Given the description of an element on the screen output the (x, y) to click on. 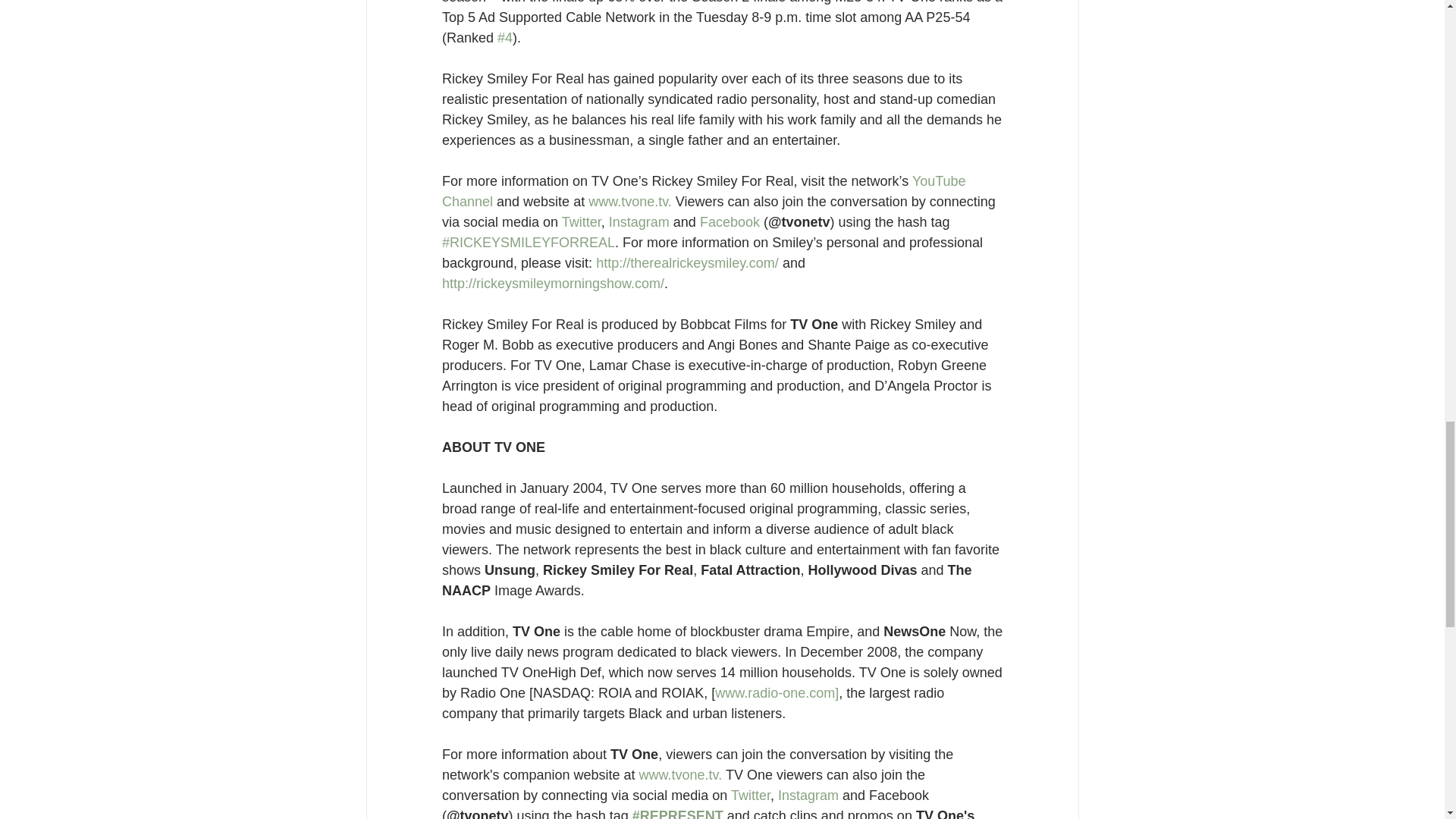
Facebook (728, 222)
Instagram  (640, 222)
Instagram  (809, 795)
Twitter (579, 222)
www.tvone.tv. (629, 201)
Twitter (750, 795)
 YouTube Channel  (705, 191)
www.tvone.tv.  (682, 774)
